Given the description of an element on the screen output the (x, y) to click on. 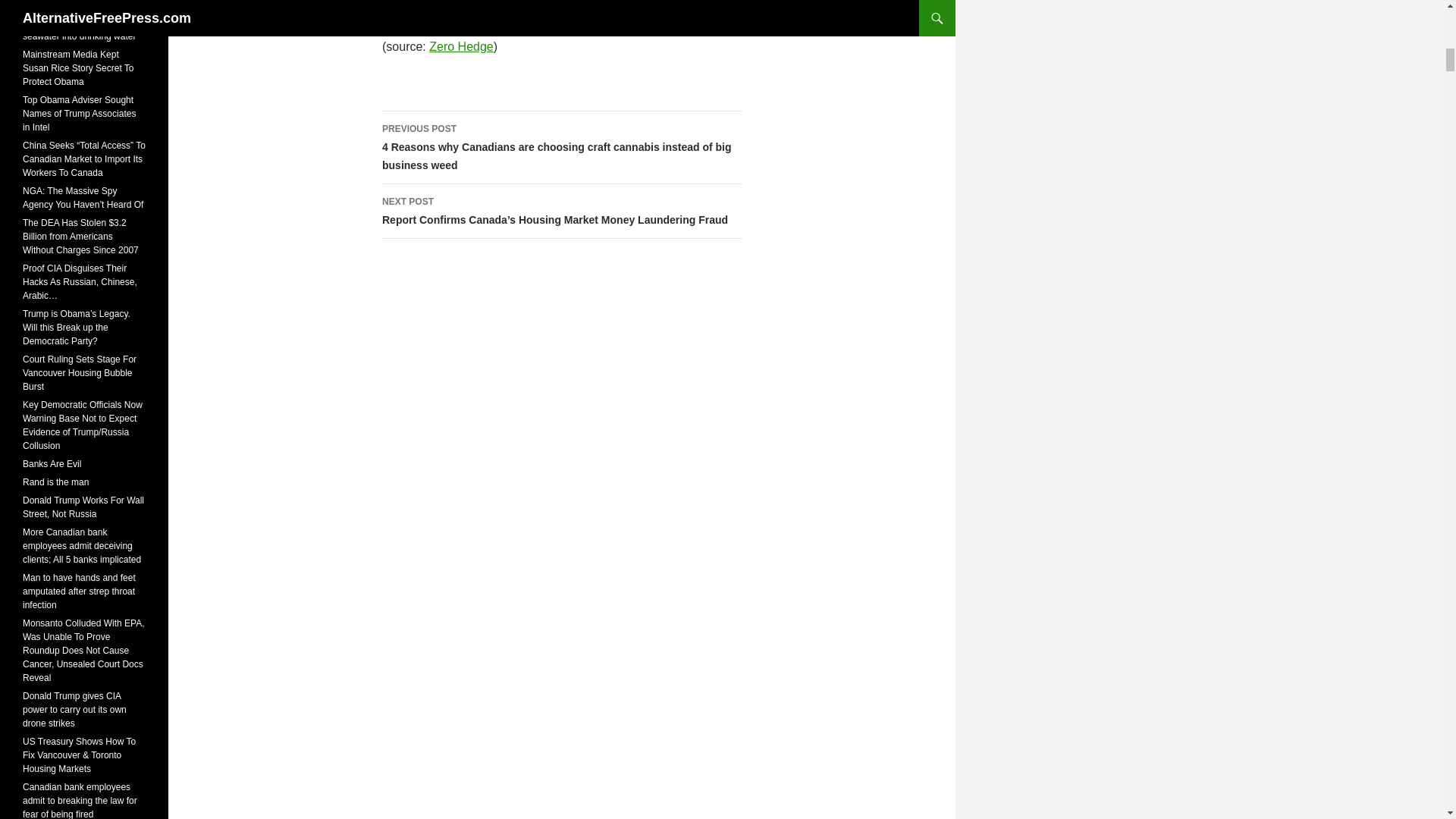
Zero Hedge (461, 46)
